Given the description of an element on the screen output the (x, y) to click on. 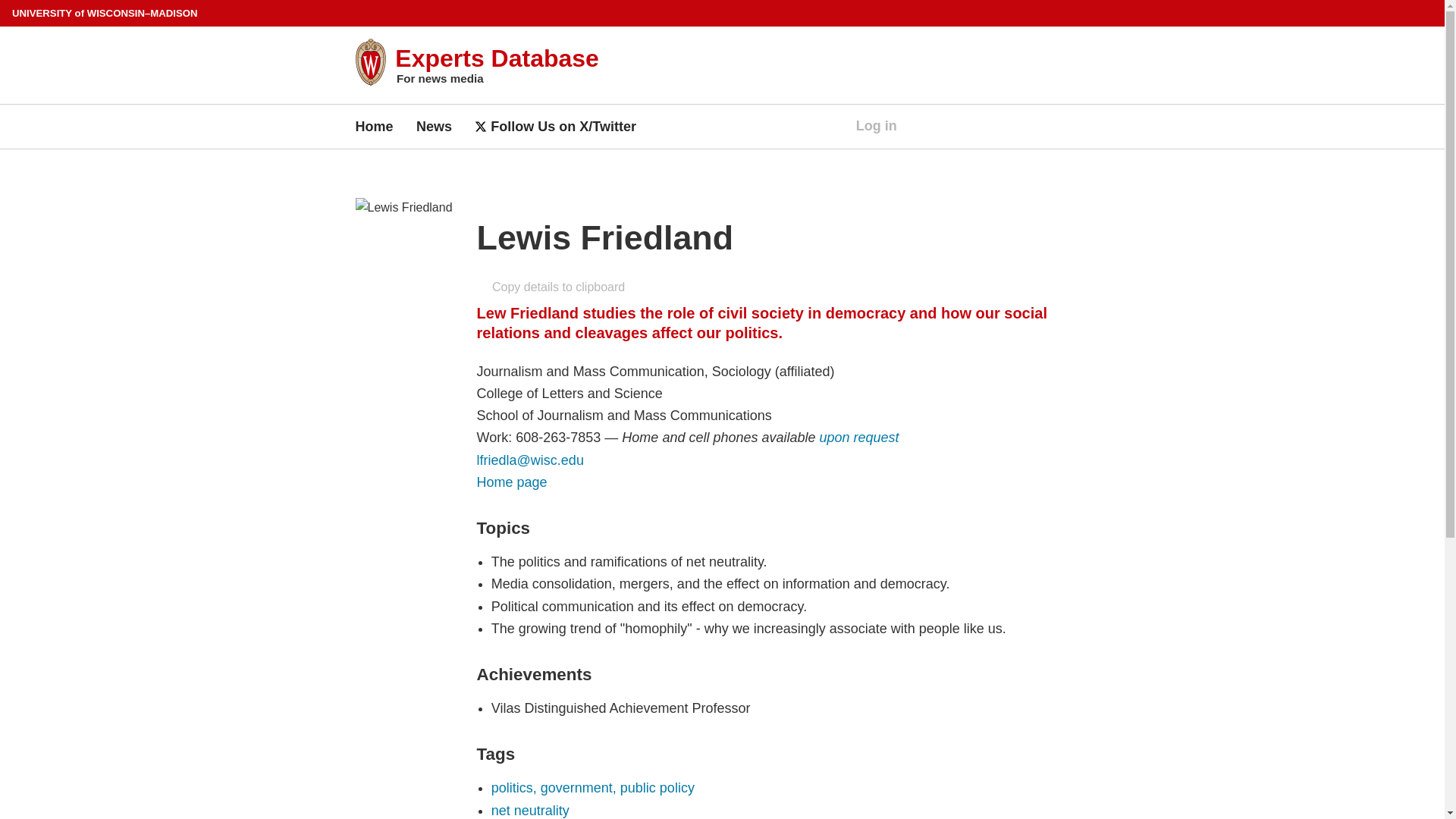
News (433, 126)
Copy details to clipboard (551, 286)
Home page (512, 482)
Skip to main content (3, 3)
upon request (859, 437)
Home (374, 126)
net neutrality (530, 810)
Experts Database (496, 57)
 Log in (868, 125)
politics, government, public policy (593, 787)
